Given the description of an element on the screen output the (x, y) to click on. 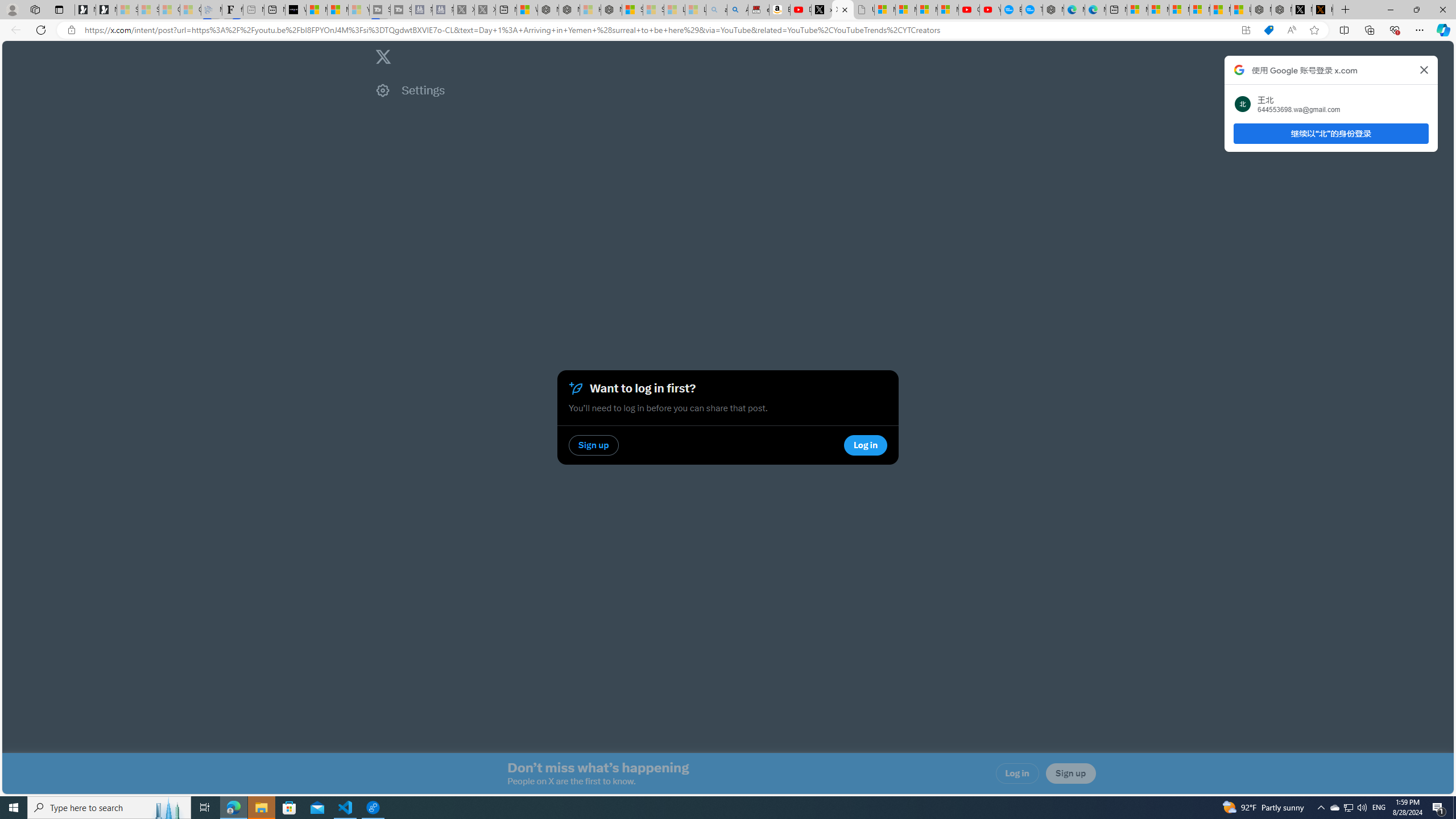
Log in (1017, 773)
Shopping in Microsoft Edge (1268, 29)
